Given the description of an element on the screen output the (x, y) to click on. 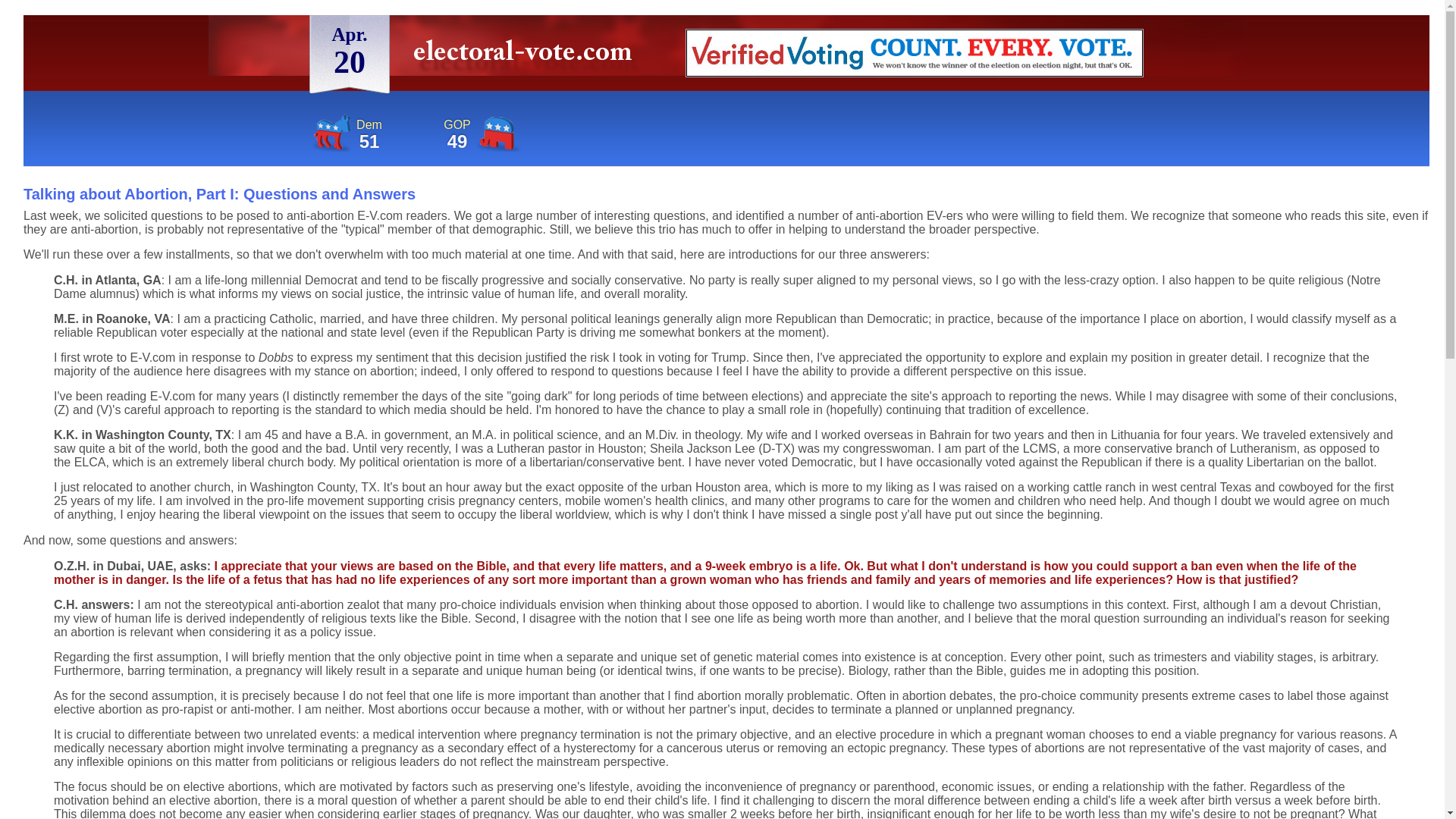
electoral-vote.com (526, 56)
